Given the description of an element on the screen output the (x, y) to click on. 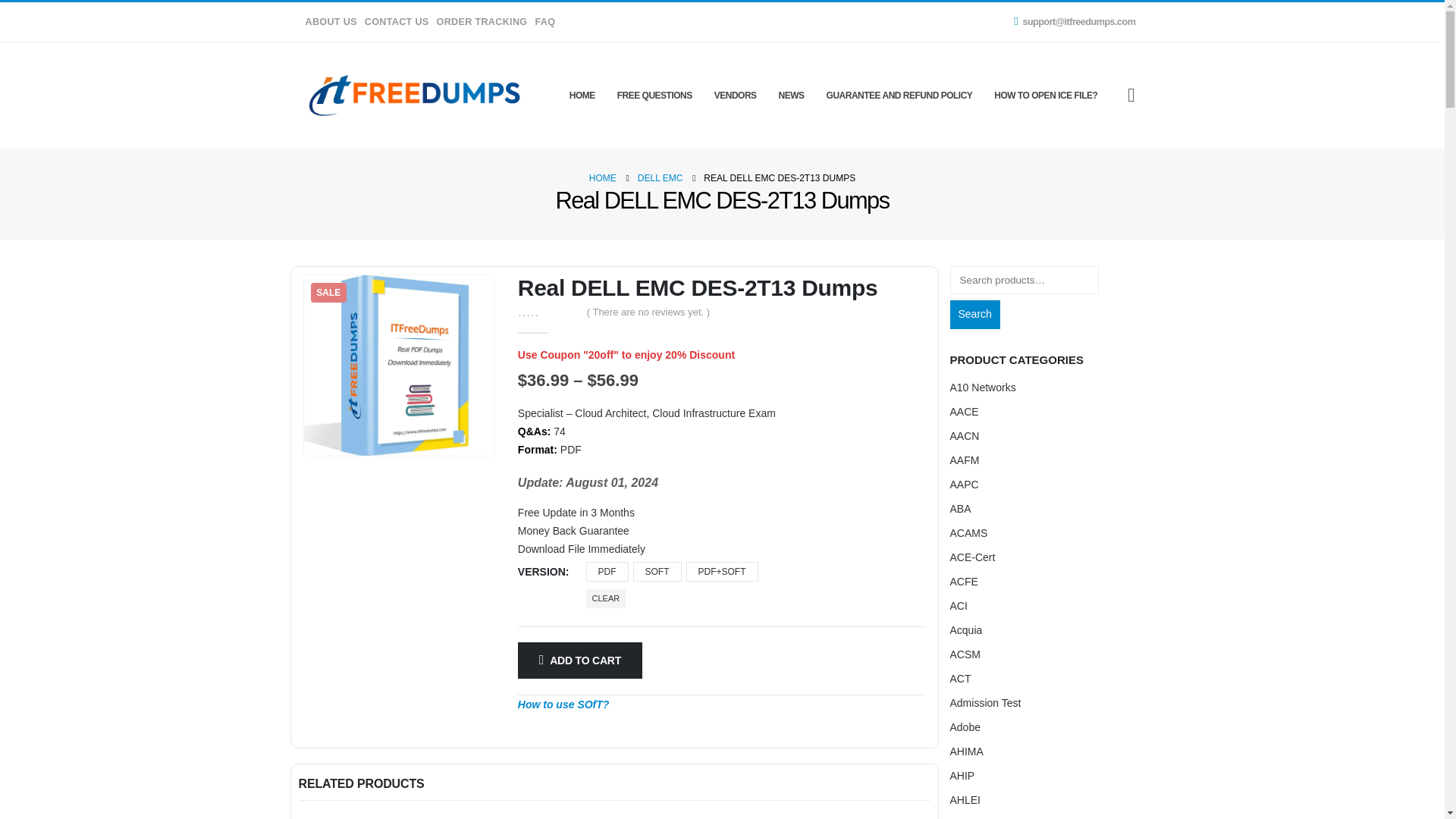
HOW TO OPEN ICE FILE? (1046, 95)
CONTACT US (396, 22)
ORDER TRACKING (481, 22)
ABOUT US (331, 22)
Go to Home Page (602, 177)
PDF (607, 571)
SOFT (657, 571)
FREE QUESTIONS (655, 95)
0 (547, 311)
GUARANTEE AND REFUND POLICY (899, 95)
FAQ (542, 22)
CLEAR (606, 598)
HOME (602, 177)
DELL EMC (659, 177)
